Given the description of an element on the screen output the (x, y) to click on. 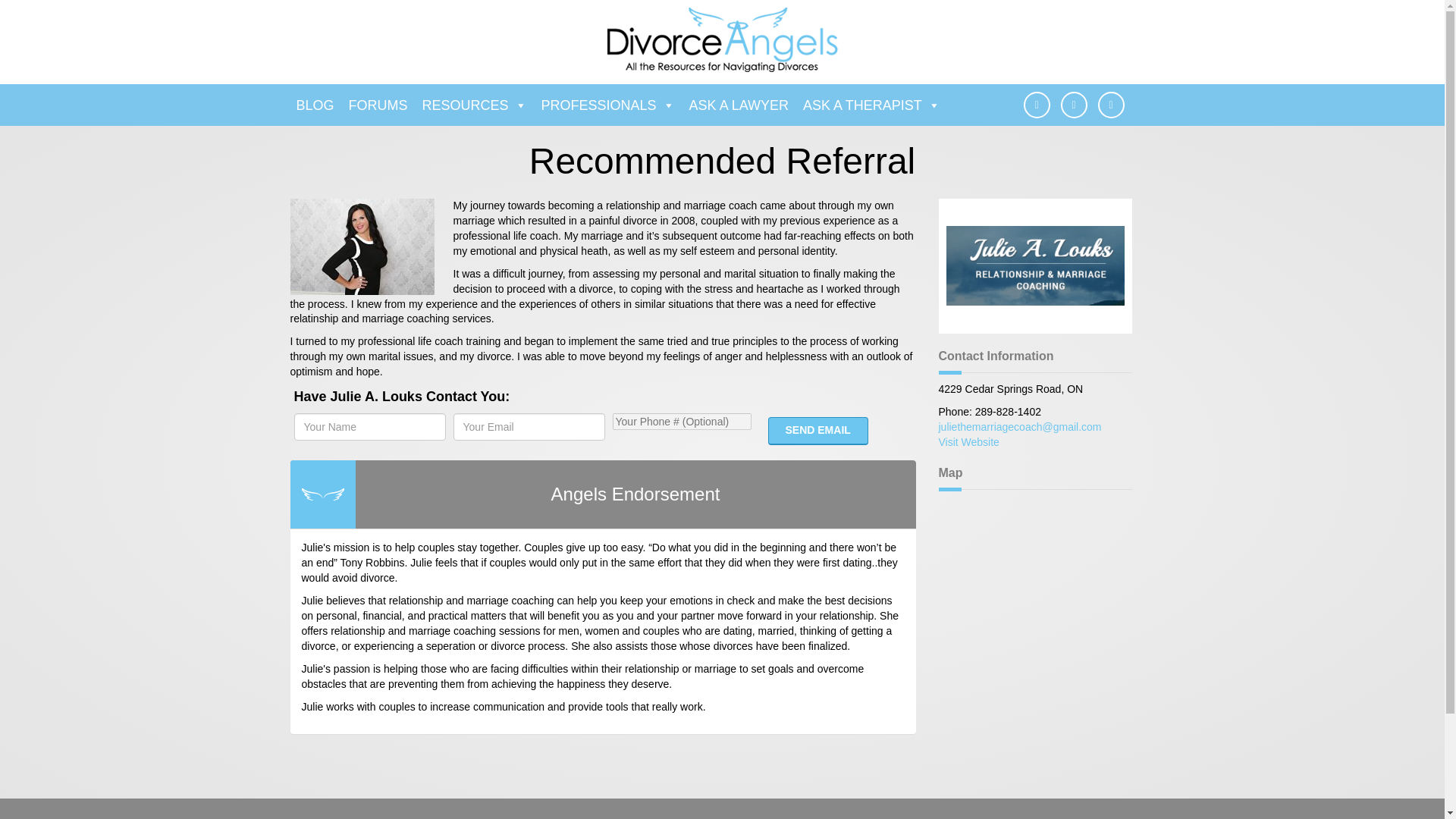
Send Email (817, 430)
